Given the description of an element on the screen output the (x, y) to click on. 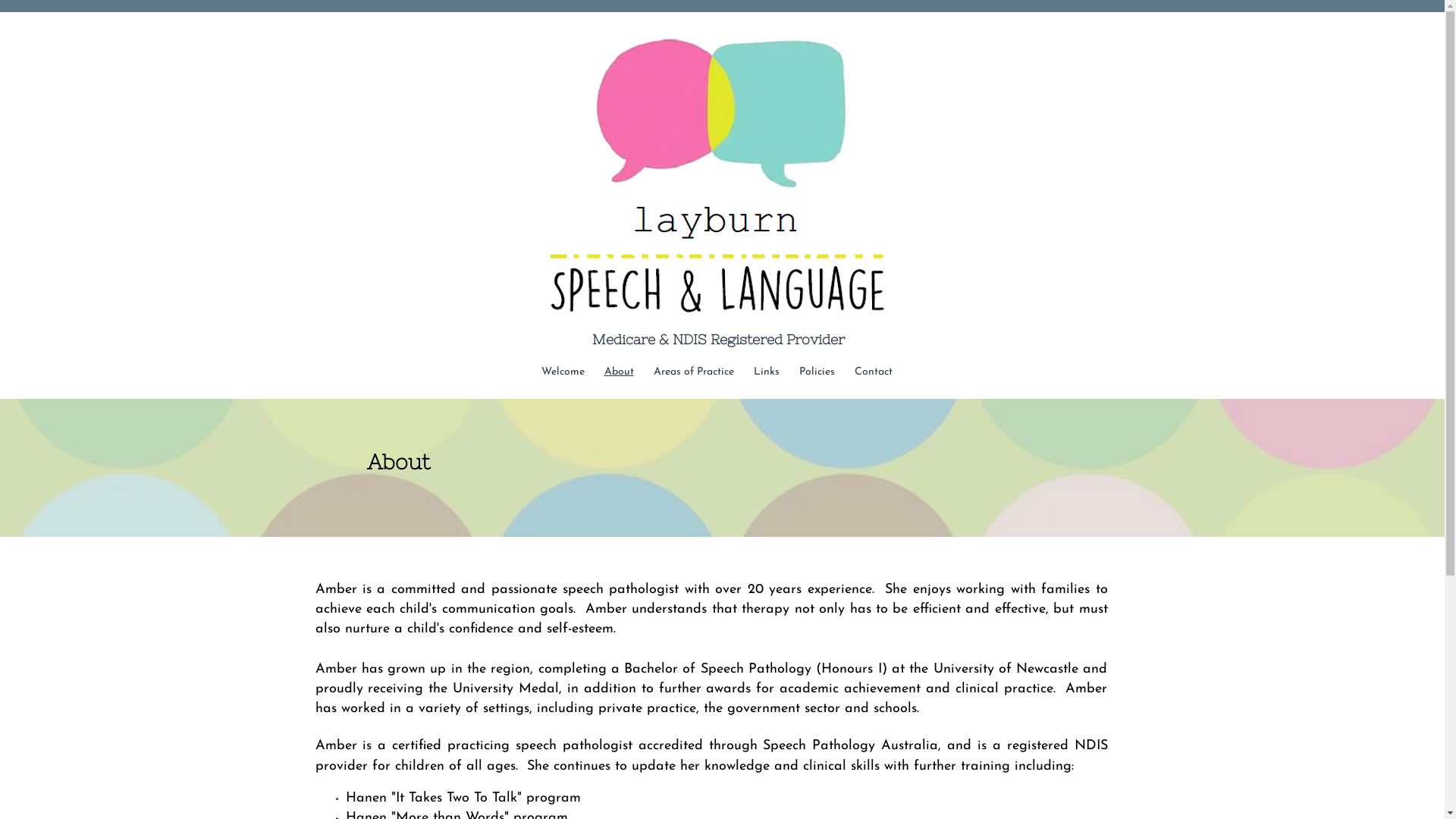
Links Element type: text (765, 371)
Welcome Element type: text (561, 371)
About Element type: text (618, 371)
Areas of Practice Element type: text (693, 371)
Contact Element type: text (873, 371)
Policies Element type: text (816, 371)
